Given the description of an element on the screen output the (x, y) to click on. 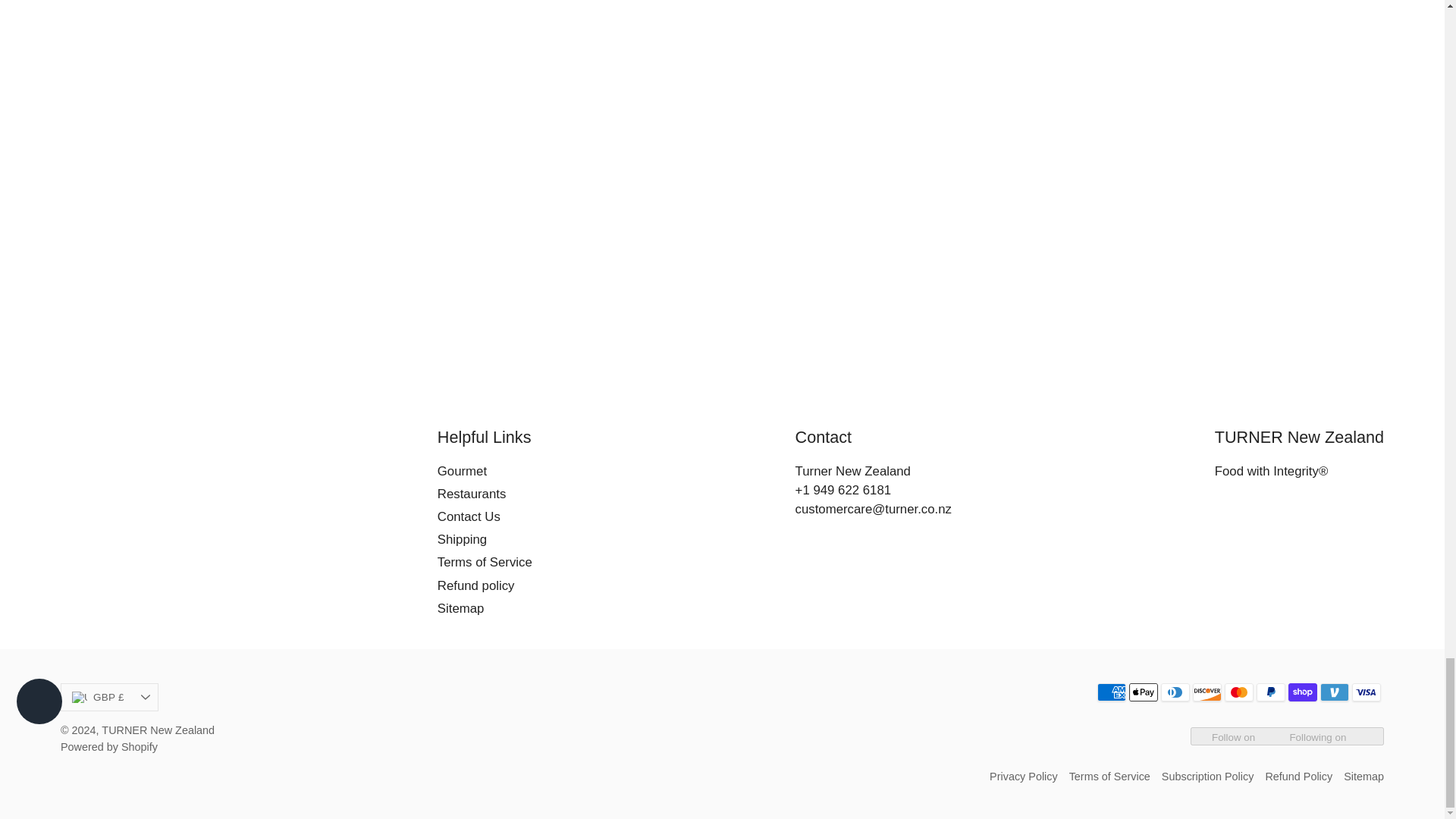
Diners Club (1174, 692)
Visa (1366, 692)
American Express (1111, 692)
Mastercard (1238, 692)
Apple Pay (1143, 692)
Shop Pay (1302, 692)
Discover (1206, 692)
Venmo (1334, 692)
PayPal (1270, 692)
